Given the description of an element on the screen output the (x, y) to click on. 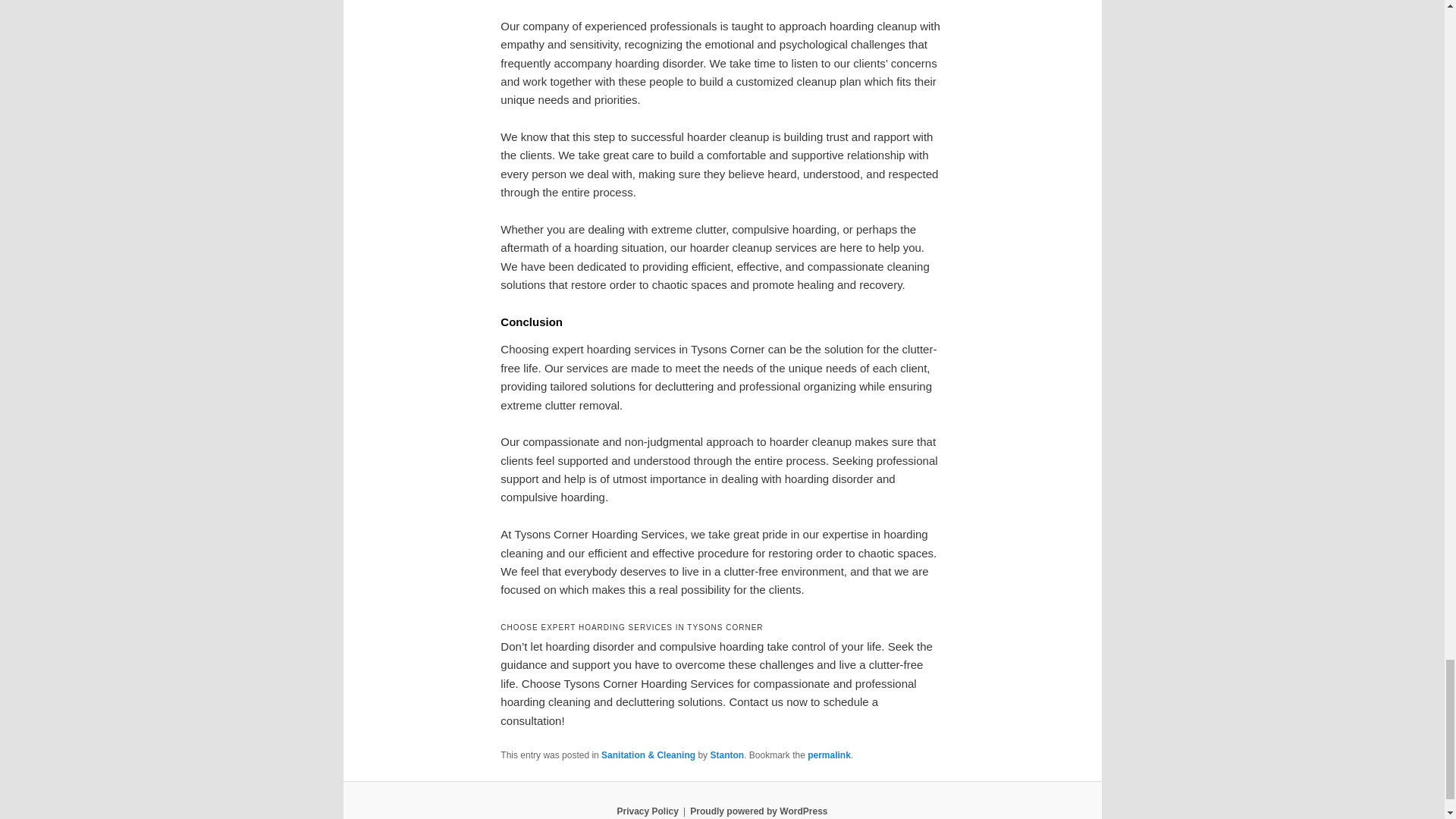
Semantic Personal Publishing Platform (758, 810)
Proudly powered by WordPress (758, 810)
Privacy Policy (646, 810)
permalink (829, 755)
Stanton (727, 755)
